Given the description of an element on the screen output the (x, y) to click on. 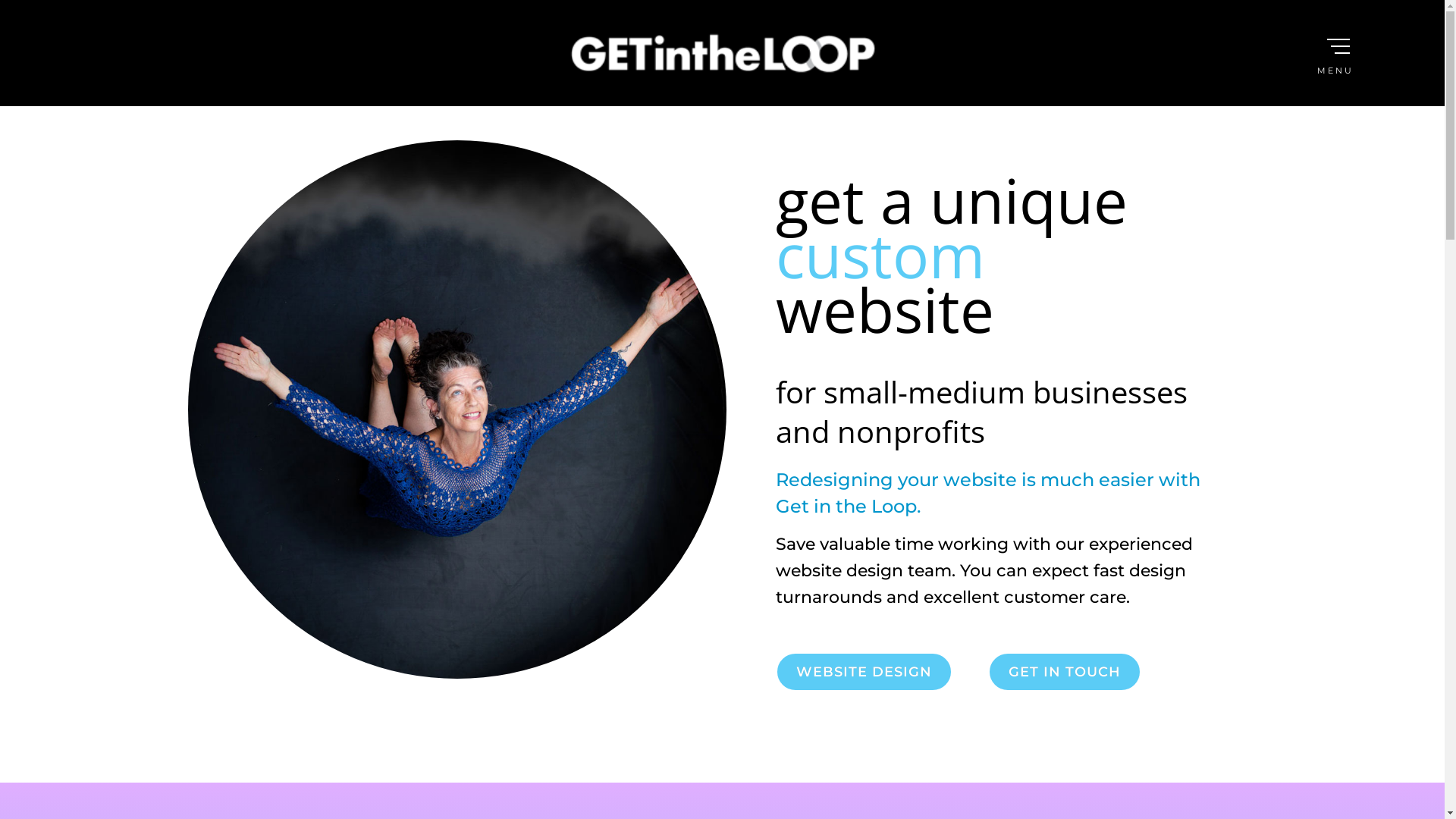
GET IN TOUCH Element type: text (1063, 671)
WEBSITE DESIGN Element type: text (863, 671)
